Given the description of an element on the screen output the (x, y) to click on. 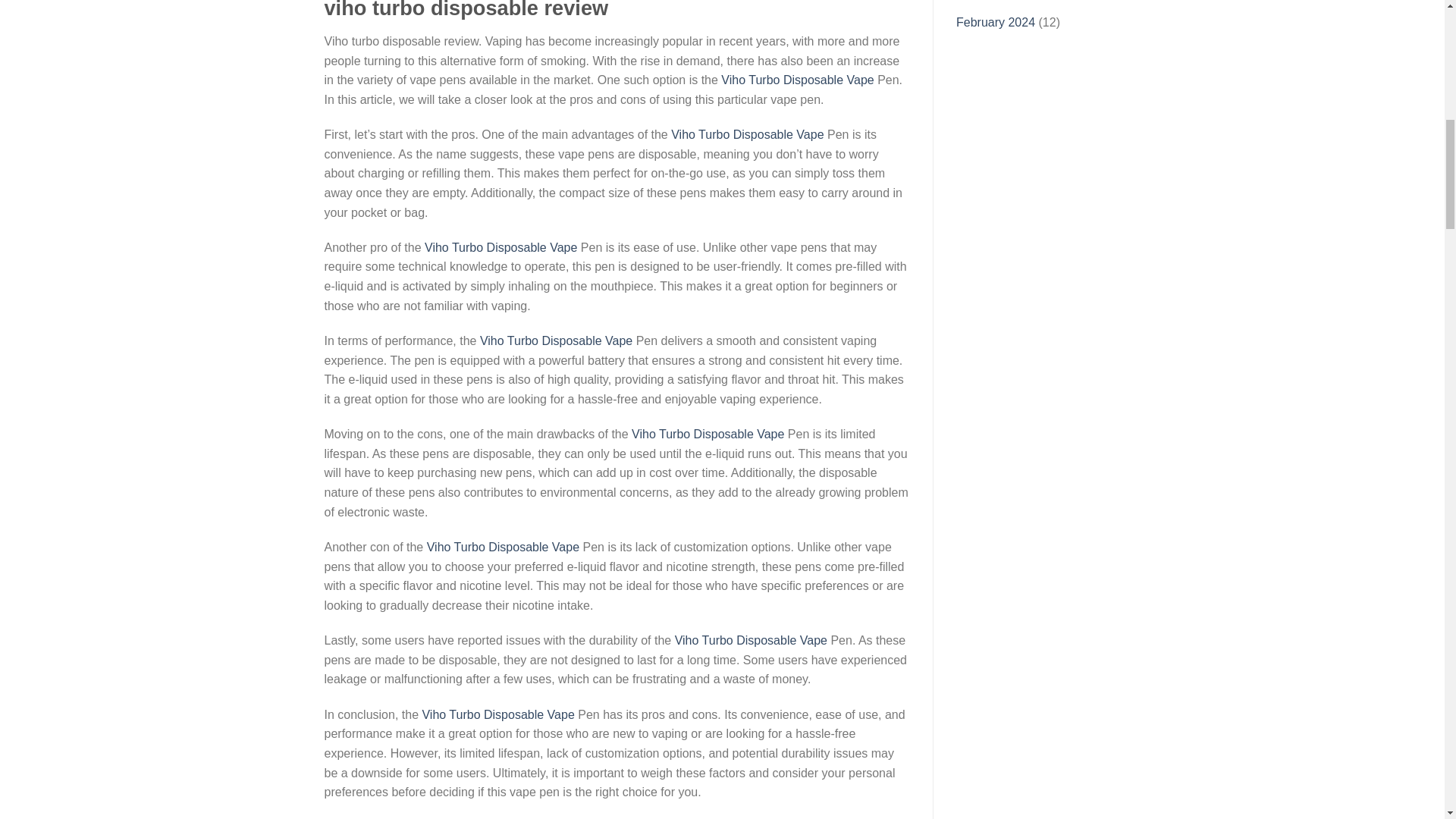
Viho Turbo Disposable Vape (500, 246)
Viho Turbo Disposable Vape (502, 546)
Viho Turbo Disposable Vape (707, 433)
Viho Turbo Disposable Vape (751, 640)
Viho Turbo Disposable Vape (747, 133)
Viho Turbo Disposable Vape (497, 714)
Viho Turbo Disposable Vape (555, 340)
Viho Turbo Disposable Vape (796, 79)
